Given the description of an element on the screen output the (x, y) to click on. 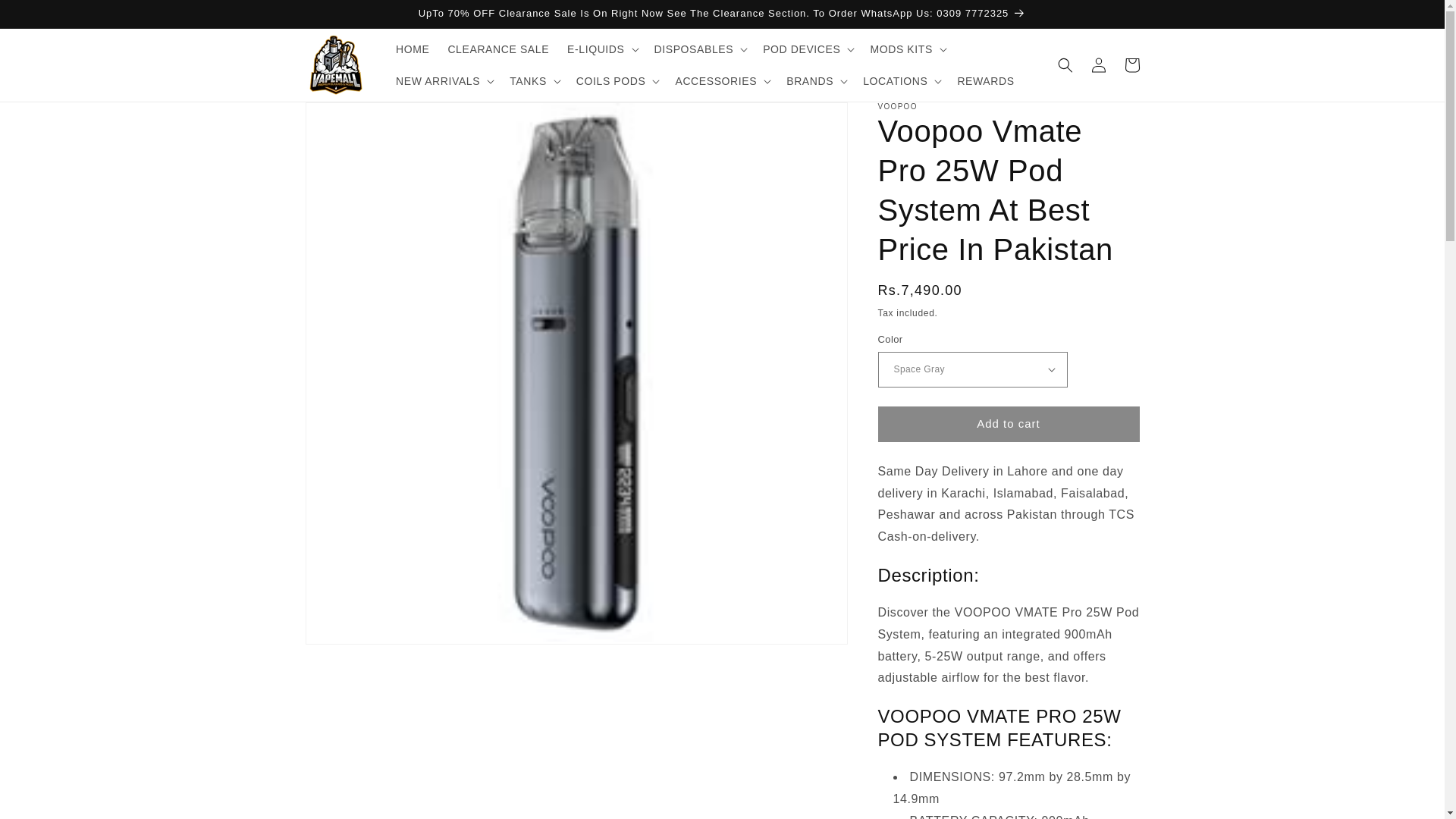
Skip to content (45, 17)
